Given the description of an element on the screen output the (x, y) to click on. 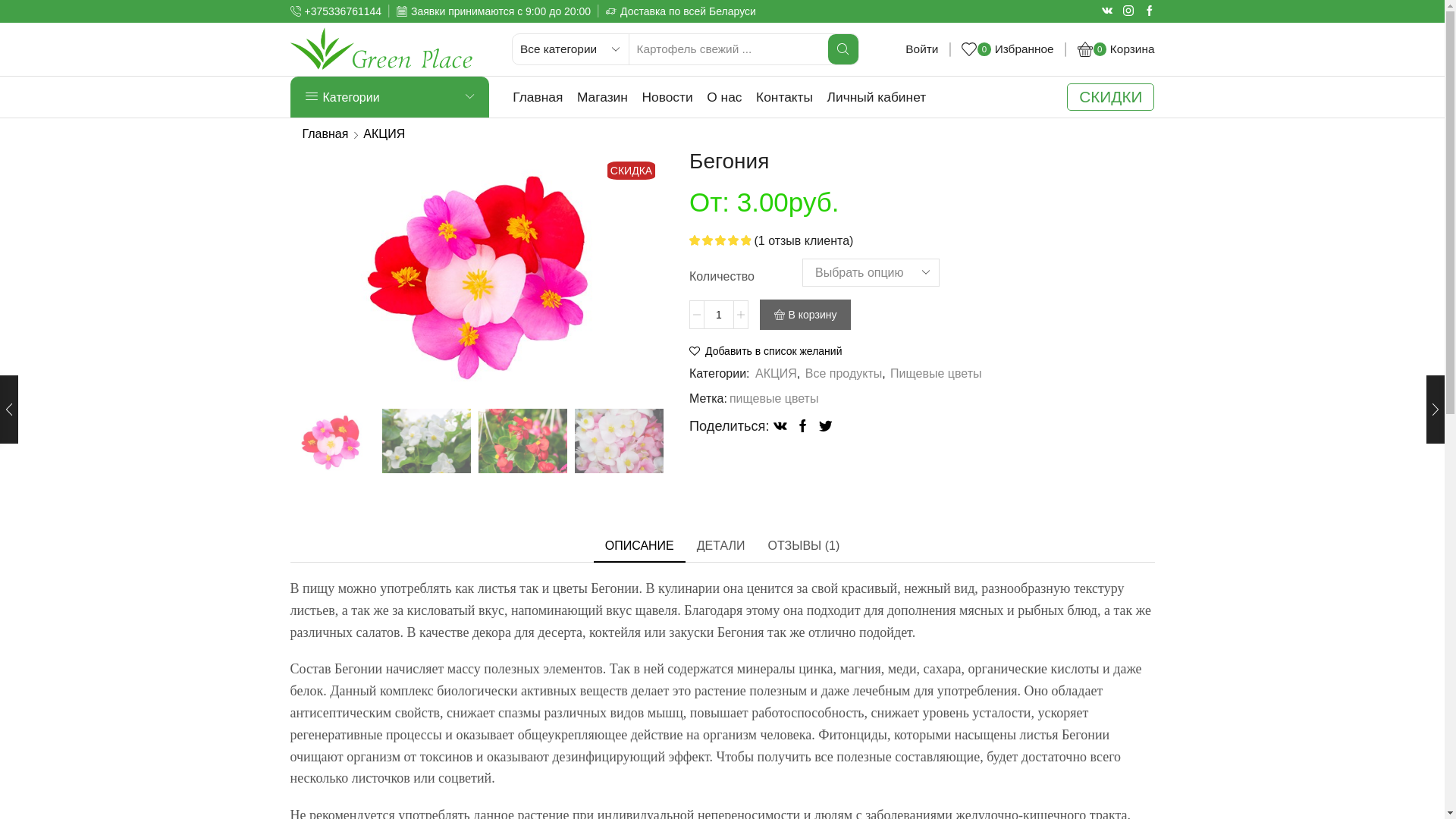
Facebook Element type: hover (1148, 11)
Vk Element type: hover (1106, 11)
DSC_8136.jpg Element type: hover (426, 441)
IMG_20201119_151414-scaled-1.jpg Element type: hover (618, 441)
DSC_8132.jpg Element type: hover (522, 441)
Instagram Element type: hover (1127, 11)
